Given the description of an element on the screen output the (x, y) to click on. 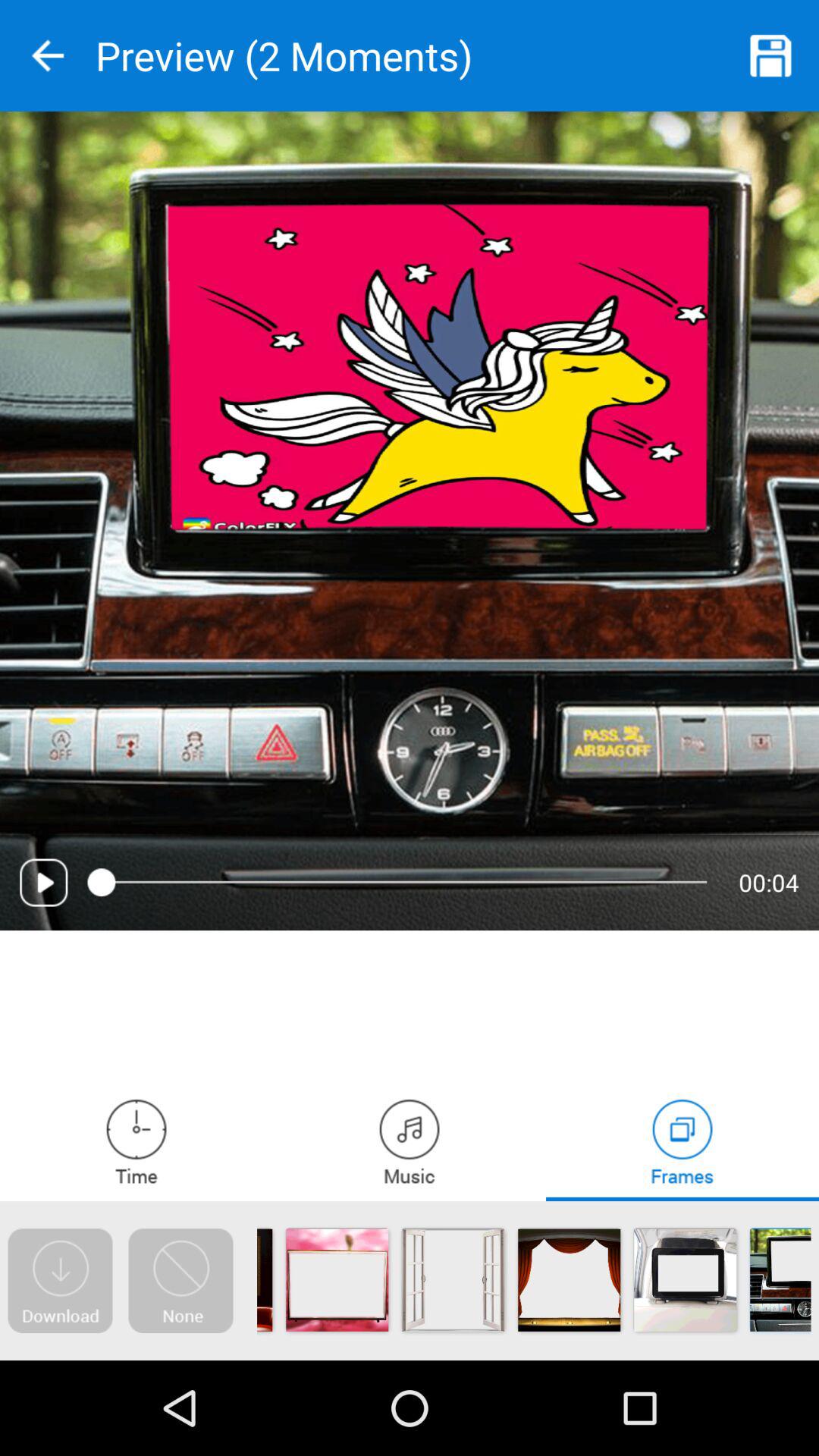
play (43, 882)
